Given the description of an element on the screen output the (x, y) to click on. 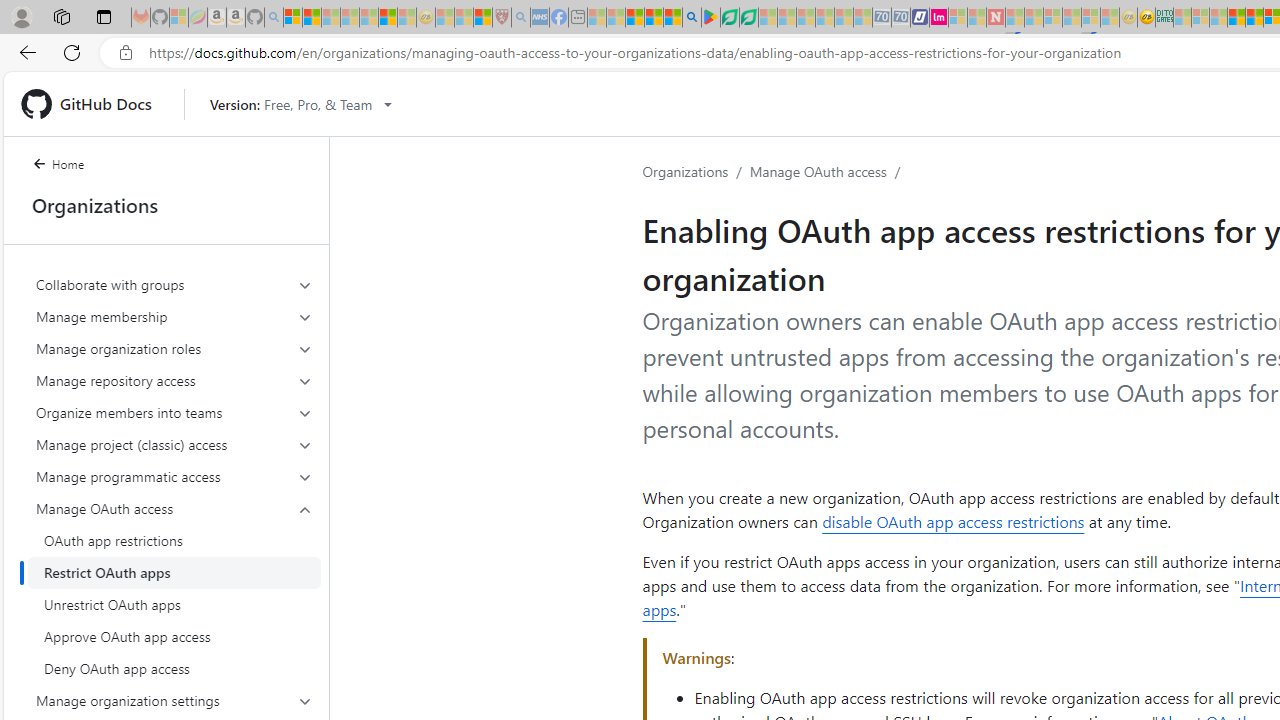
View site information (125, 53)
Organize members into teams (174, 412)
Manage OAuth access/ (828, 171)
14 Common Myths Debunked By Scientific Facts - Sleeping (1034, 17)
DITOGAMES AG Imprint (1163, 17)
Microsoft Start (634, 17)
Cheap Hotels - Save70.com - Sleeping (901, 17)
Approve OAuth app access (174, 636)
google - Search (692, 17)
Collaborate with groups (174, 284)
